Given the description of an element on the screen output the (x, y) to click on. 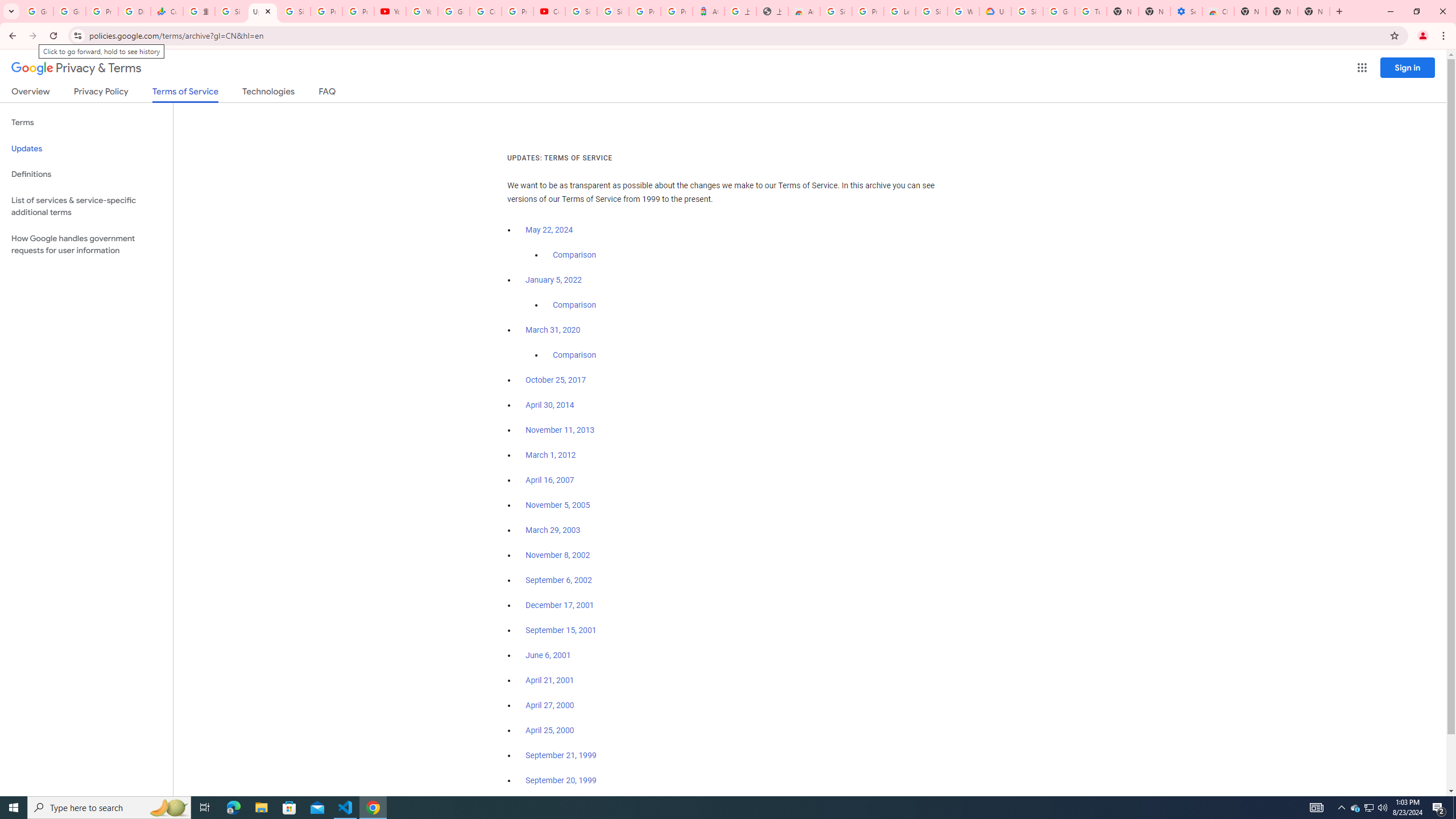
January 5, 2022 (553, 280)
Definitions (86, 174)
Sign in - Google Accounts (931, 11)
March 29, 2003 (552, 530)
Turn cookies on or off - Computer - Google Account Help (1091, 11)
Content Creator Programs & Opportunities - YouTube Creators (549, 11)
Sign in - Google Accounts (230, 11)
April 27, 2000 (550, 705)
How Google handles government requests for user information (86, 244)
November 8, 2002 (557, 555)
